Given the description of an element on the screen output the (x, y) to click on. 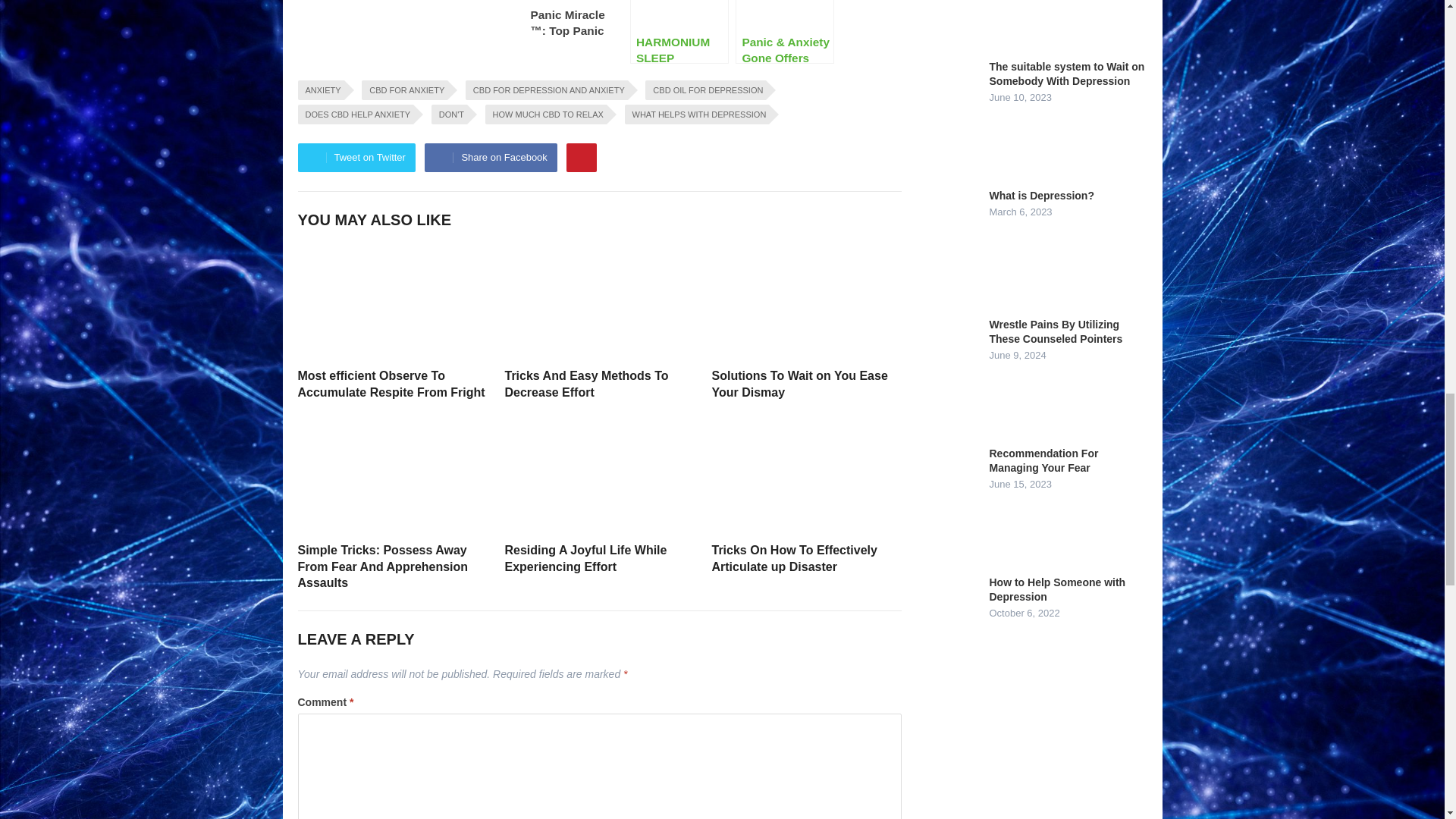
DOES CBD HELP ANXIETY (355, 114)
CBD FOR ANXIETY (403, 89)
Share on Facebook (490, 157)
WHAT HELPS WITH DEPRESSION (697, 114)
CBD FOR DEPRESSION AND ANXIETY (546, 89)
DON'T (448, 114)
ANXIETY (320, 89)
Tweet on Twitter (355, 157)
HOW MUCH CBD TO RELAX (545, 114)
CBD OIL FOR DEPRESSION (705, 89)
